Given the description of an element on the screen output the (x, y) to click on. 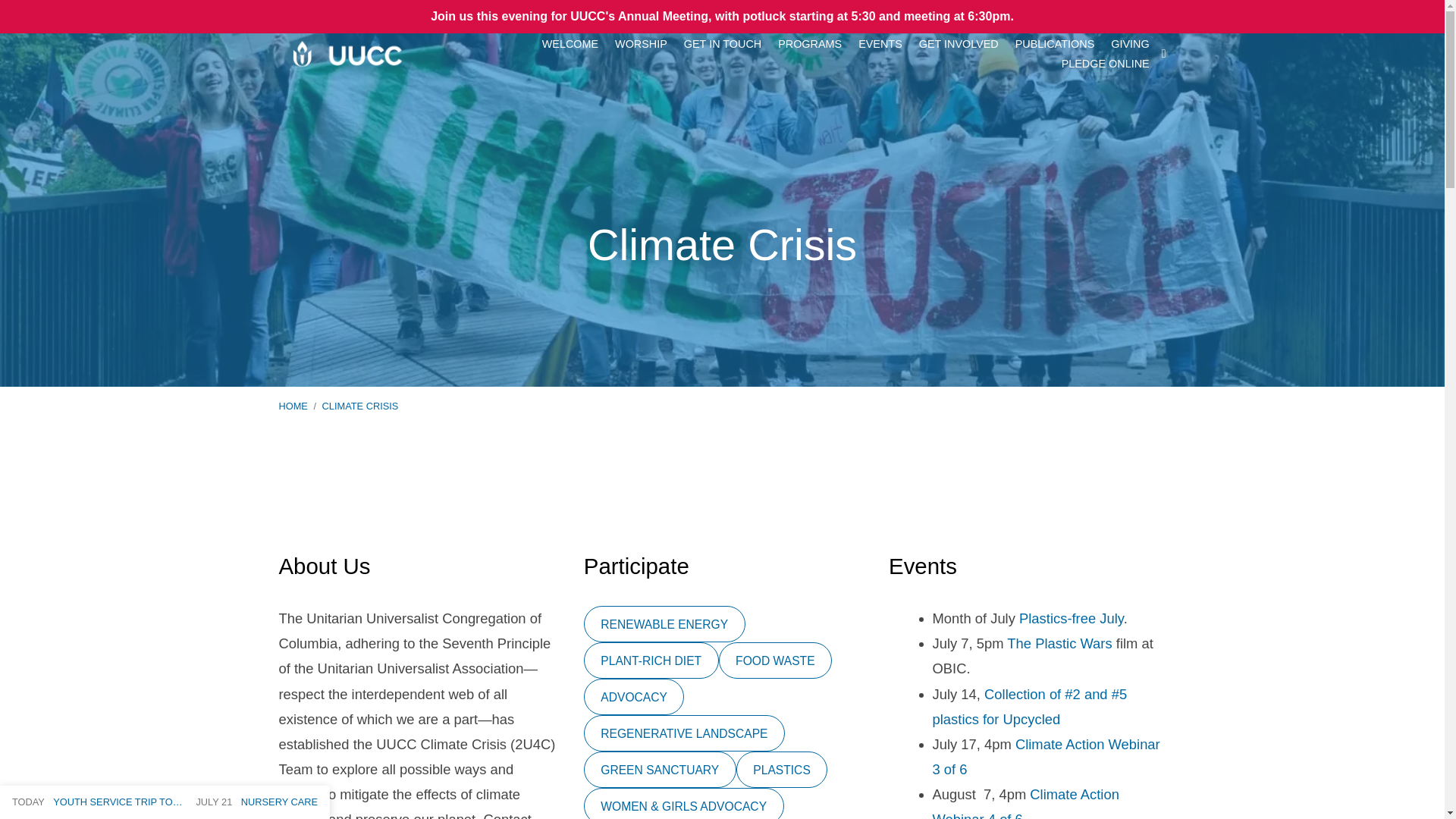
Youth Service Trip to McDowell County, WV (96, 801)
WELCOME (569, 43)
GET IN TOUCH (722, 43)
PROGRAMS (809, 43)
WORSHIP (640, 43)
Nursery Care (256, 801)
